Given the description of an element on the screen output the (x, y) to click on. 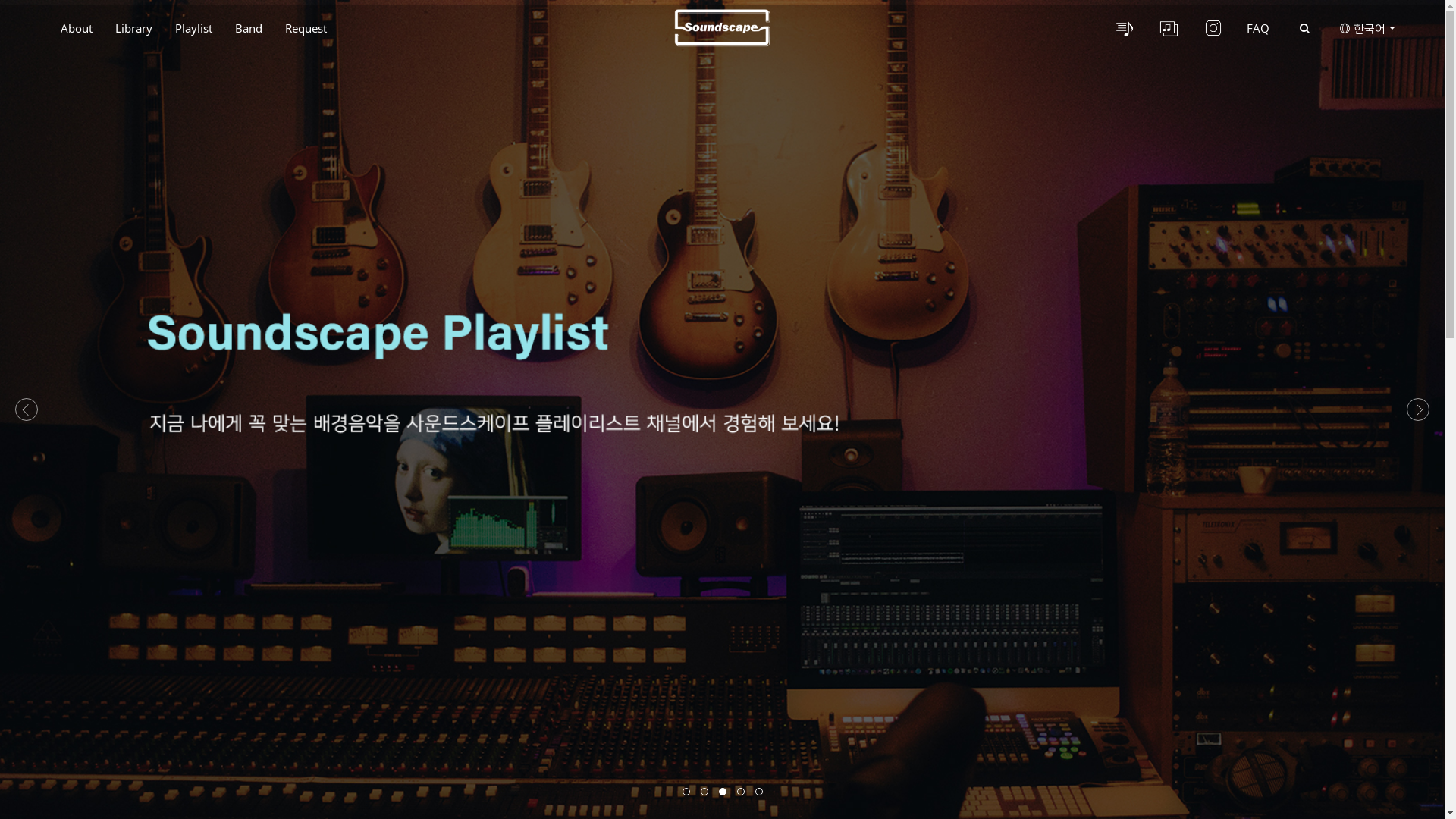
Library Element type: text (133, 27)
FAQ Element type: text (1257, 27)
About Element type: text (76, 27)
Request Element type: text (305, 27)
Playlist Element type: text (193, 27)
Band Element type: text (248, 27)
site search Element type: text (1304, 28)
